Given the description of an element on the screen output the (x, y) to click on. 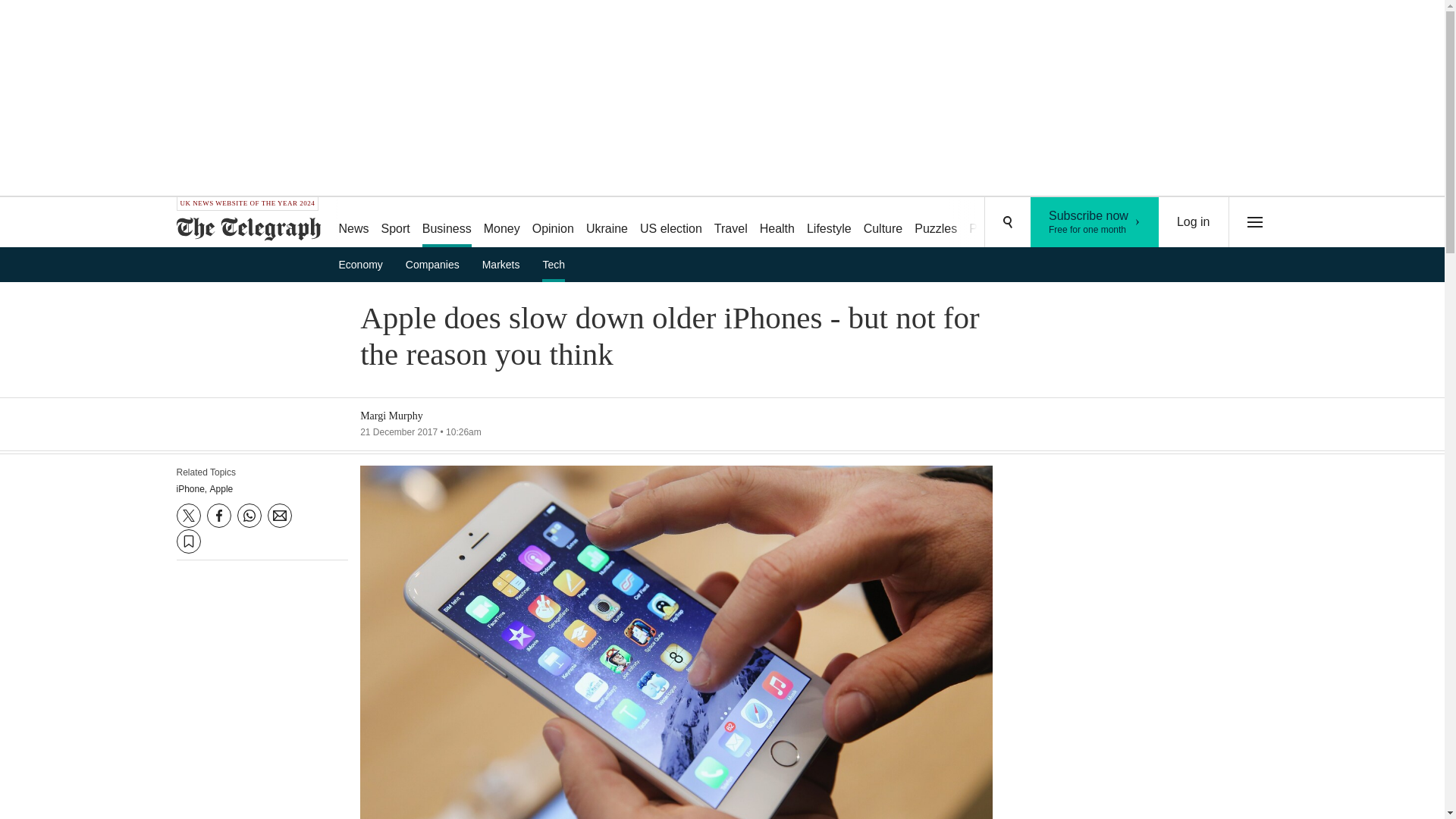
US election (670, 223)
Travel (730, 223)
Health (777, 223)
Business (446, 223)
Money (501, 223)
Economy (364, 264)
Podcasts (993, 223)
Ukraine (606, 223)
Lifestyle (1094, 222)
